Given the description of an element on the screen output the (x, y) to click on. 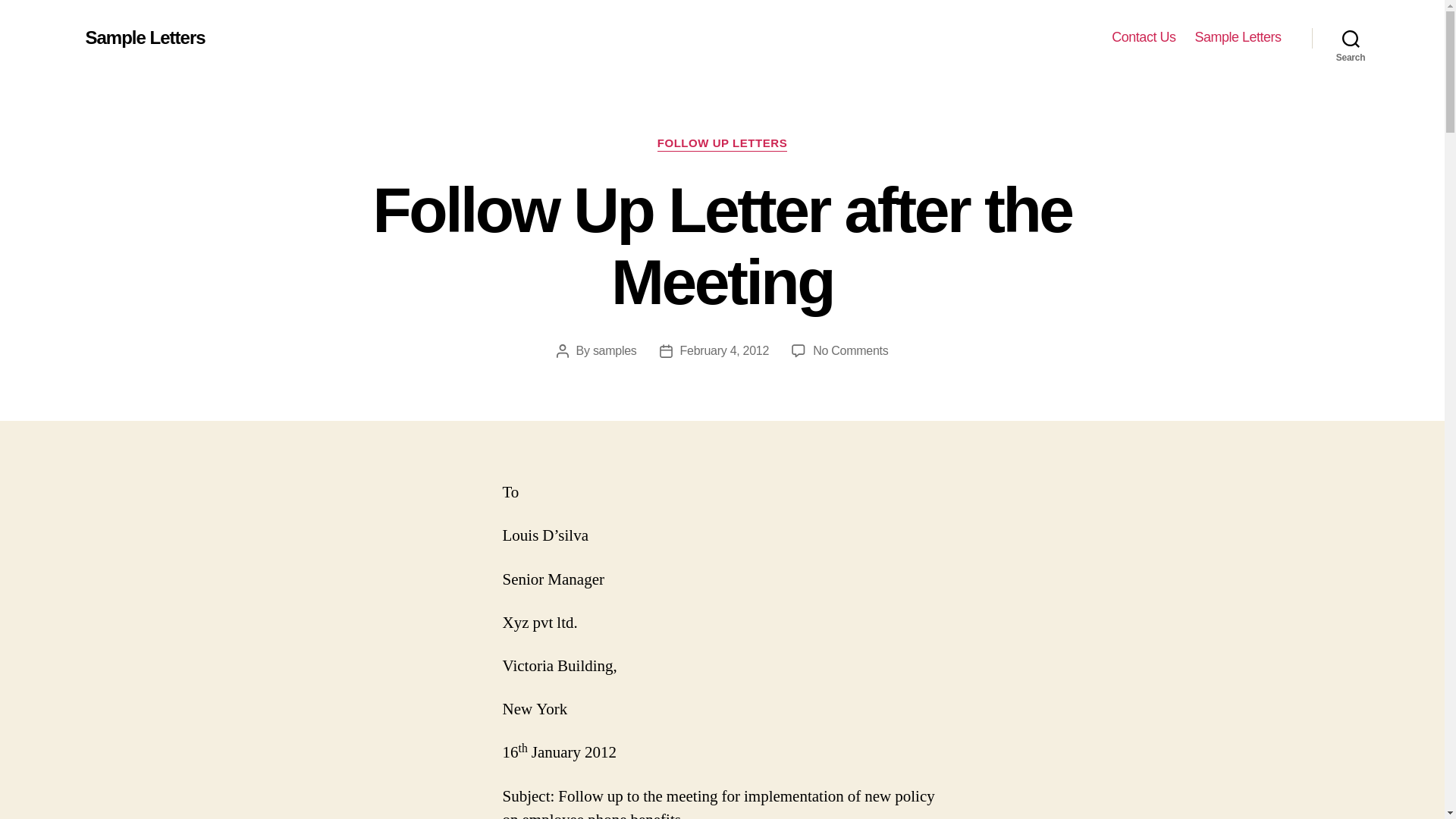
Sample Letters (1237, 37)
Search (850, 350)
February 4, 2012 (1350, 37)
FOLLOW UP LETTERS (724, 350)
samples (722, 143)
Contact Us (614, 350)
Sample Letters (1143, 37)
